Given the description of an element on the screen output the (x, y) to click on. 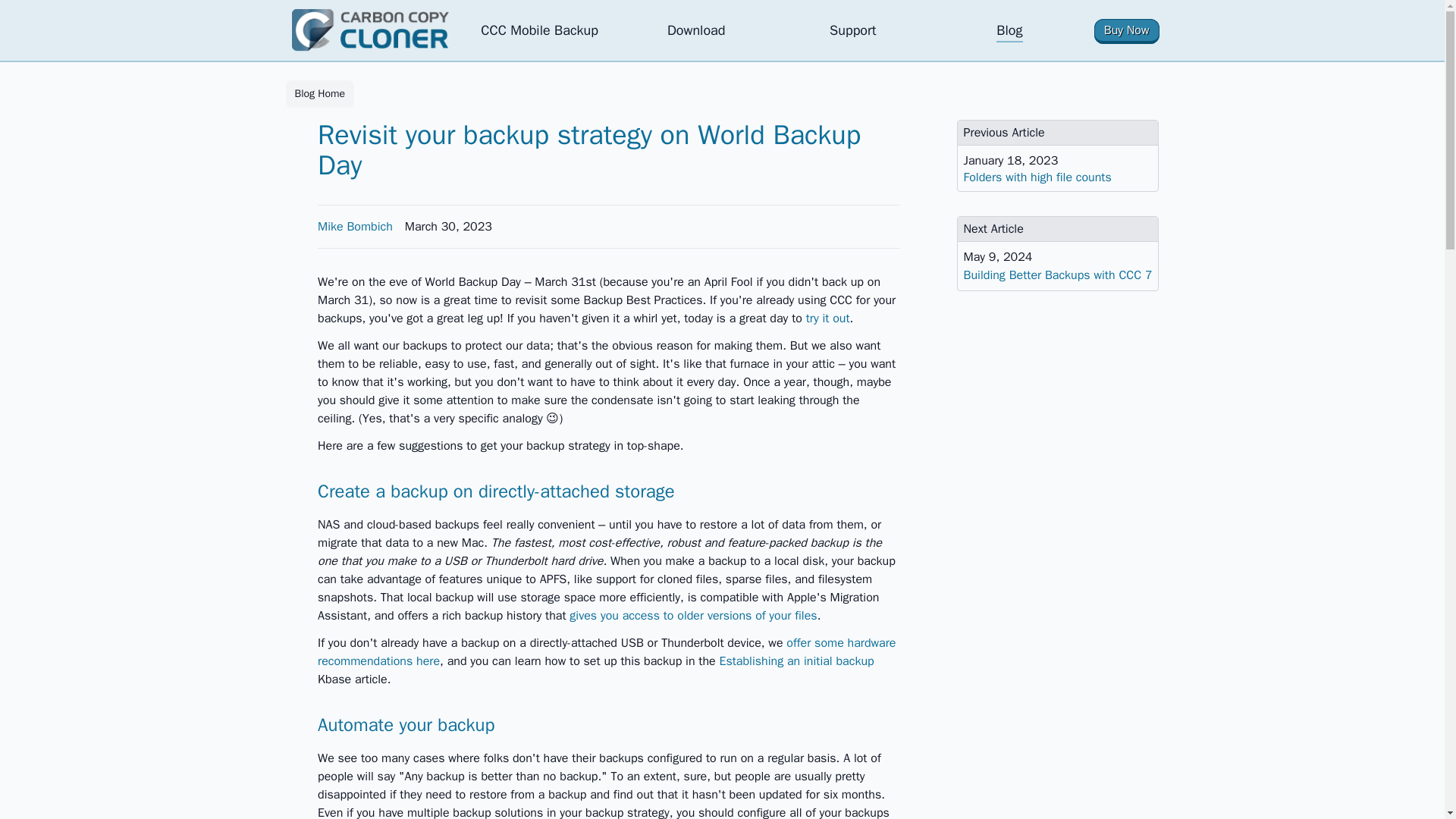
CCC Mobile Backup (539, 30)
try it out (828, 318)
Blog (1009, 30)
Buy Now (1126, 30)
Blog Home (319, 92)
gives you access to older versions of your files (692, 615)
Establishing an initial backup (796, 661)
Folders with high file counts (1058, 177)
Download (695, 30)
Mike Bombich (355, 226)
